Given the description of an element on the screen output the (x, y) to click on. 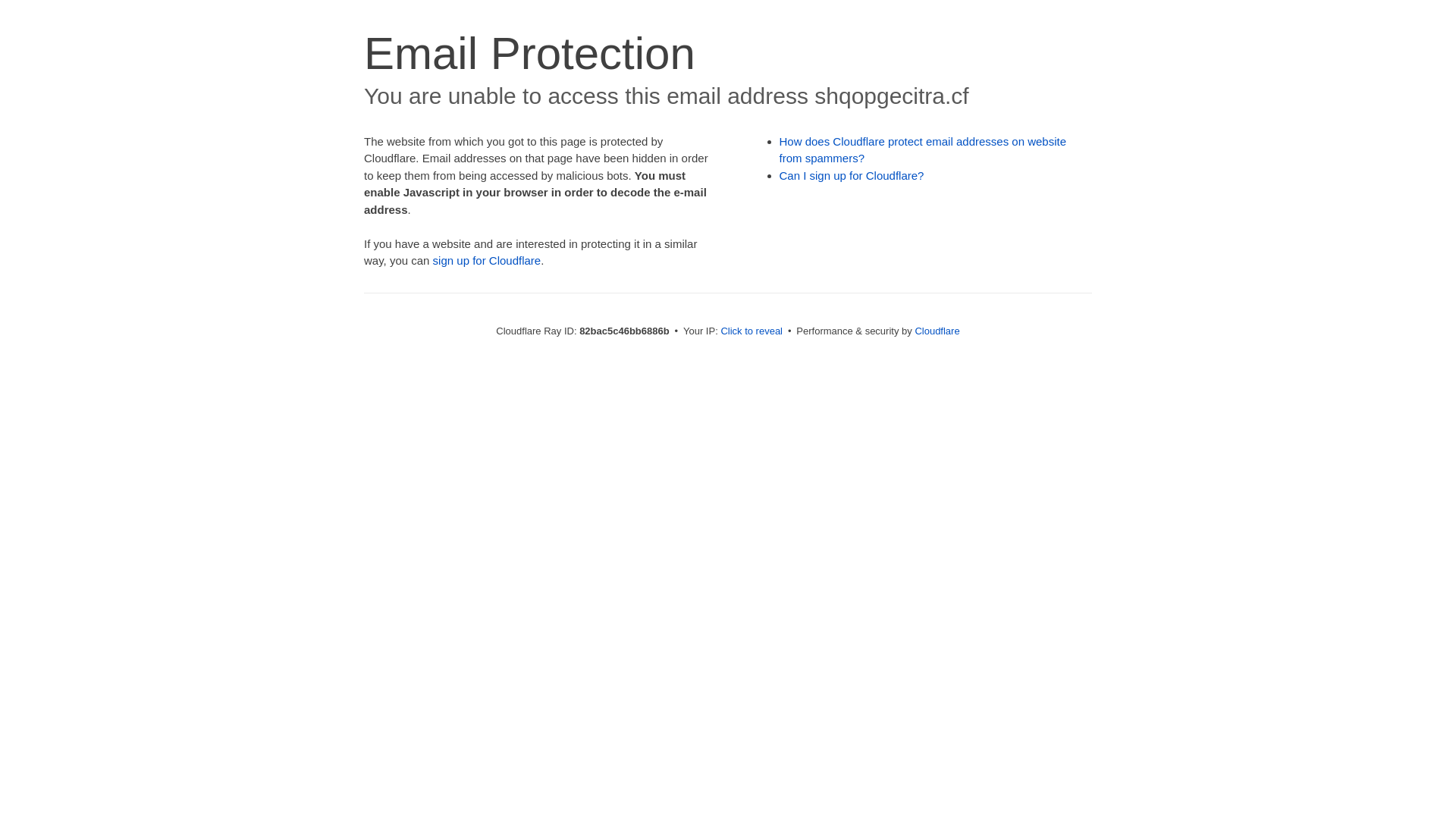
Click to reveal Element type: text (751, 330)
Can I sign up for Cloudflare? Element type: text (851, 175)
sign up for Cloudflare Element type: text (487, 260)
Cloudflare Element type: text (936, 330)
